Given the description of an element on the screen output the (x, y) to click on. 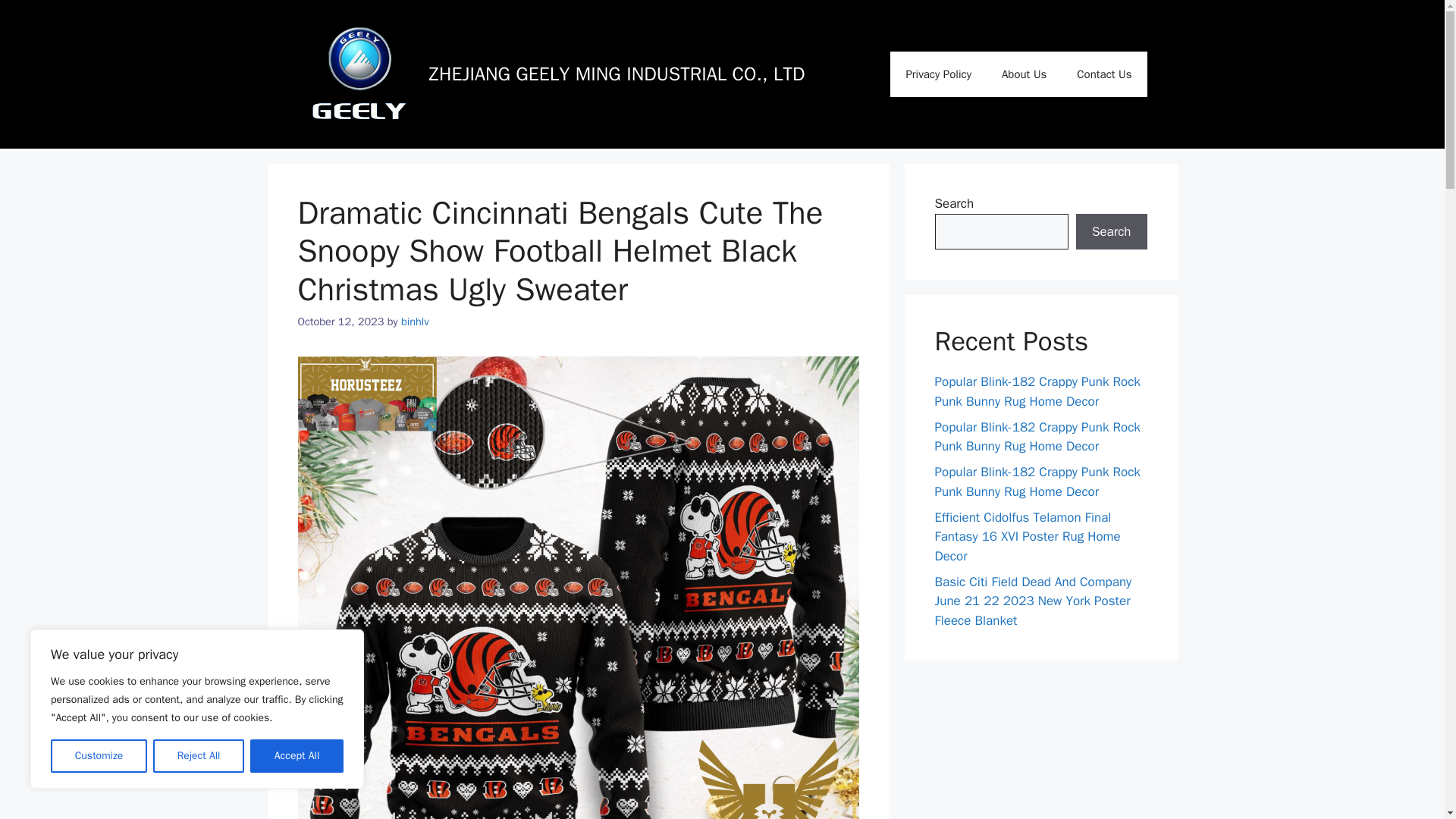
View all posts by binhlv (415, 321)
Reject All (198, 756)
Privacy Policy (938, 74)
Accept All (296, 756)
ZHEJIANG GEELY MING INDUSTRIAL CO., LTD (617, 73)
binhlv (415, 321)
About Us (1024, 74)
Customize (98, 756)
Contact Us (1104, 74)
